Given the description of an element on the screen output the (x, y) to click on. 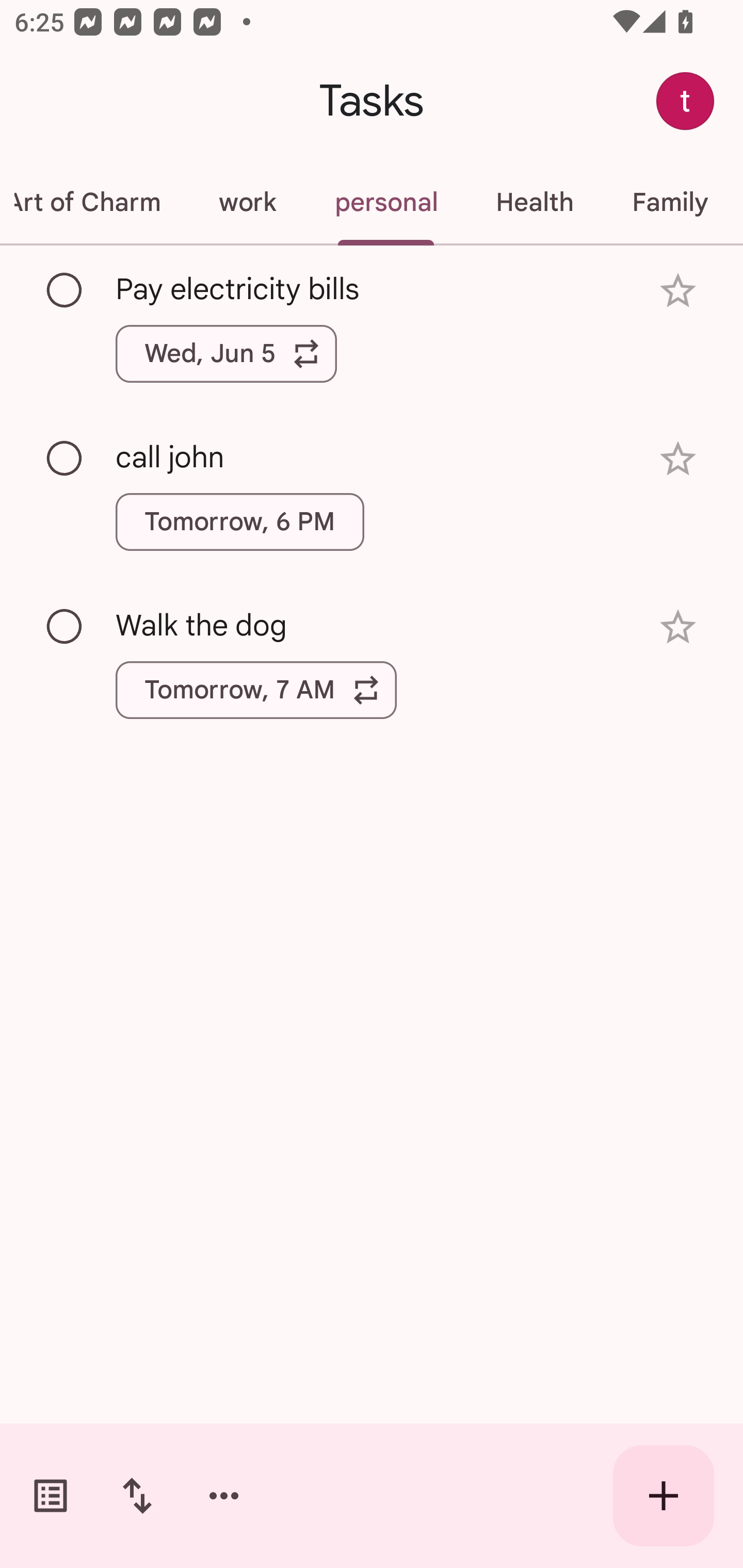
The Art of Charm (94, 202)
work (247, 202)
Health (534, 202)
Family (669, 202)
Add star (677, 290)
Mark as complete (64, 290)
Wed, Jun 5 (225, 353)
Add star (677, 458)
Mark as complete (64, 459)
Tomorrow, 6 PM (239, 522)
Add star (677, 627)
Mark as complete (64, 627)
Tomorrow, 7 AM (255, 689)
Switch task lists (50, 1495)
Create new task (663, 1495)
Change sort order (136, 1495)
More options (223, 1495)
